Given the description of an element on the screen output the (x, y) to click on. 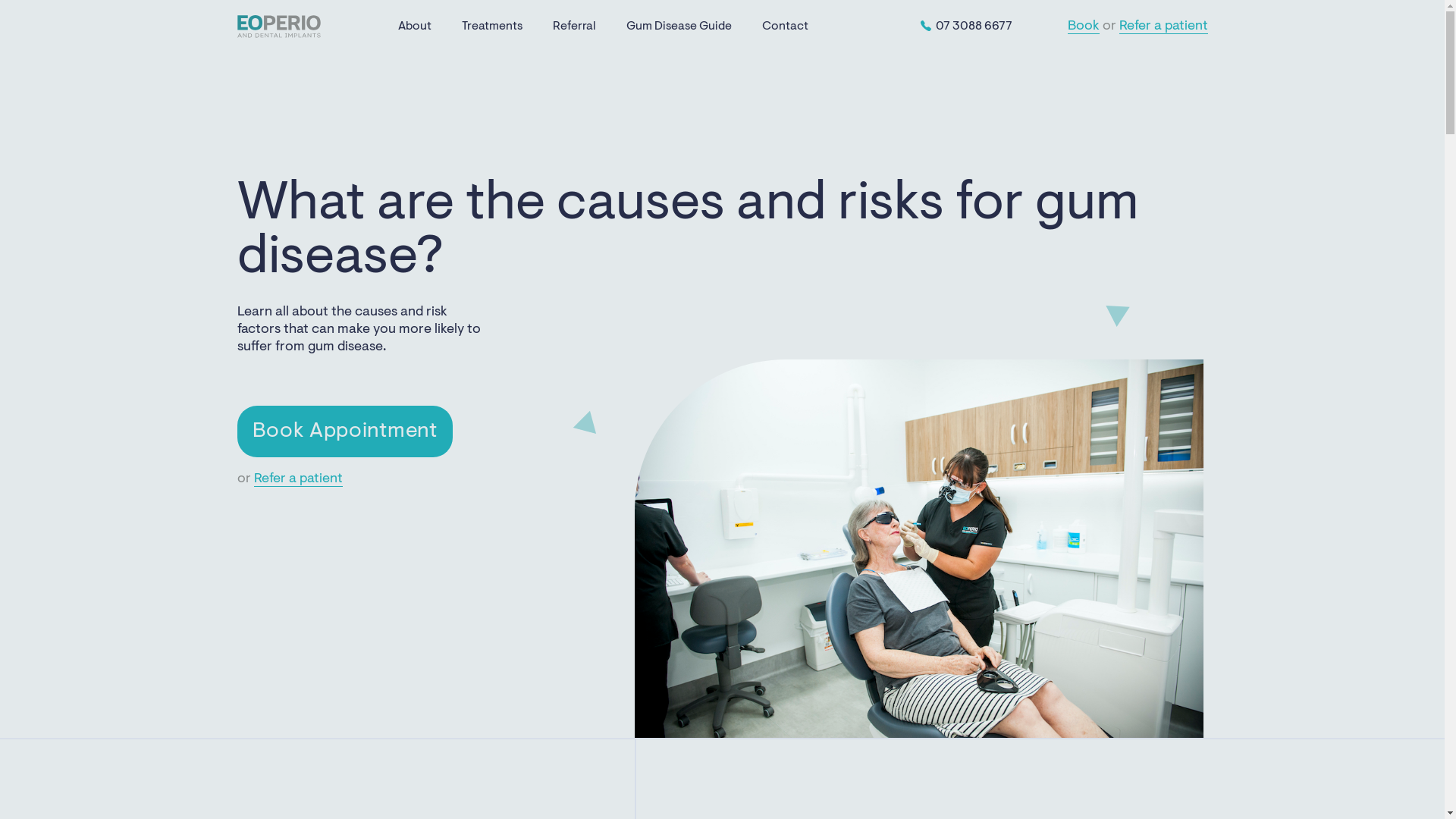
Contact Element type: text (785, 26)
07 3088  6677 Element type: text (965, 26)
Refer a patient Element type: text (297, 479)
Book Element type: text (1083, 26)
Referral Element type: text (574, 26)
Refer a patient Element type: text (1163, 26)
Book Appointment Element type: text (343, 431)
About Element type: text (414, 26)
Gum Disease Guide Element type: text (678, 26)
Treatments Element type: text (491, 26)
